Given the description of an element on the screen output the (x, y) to click on. 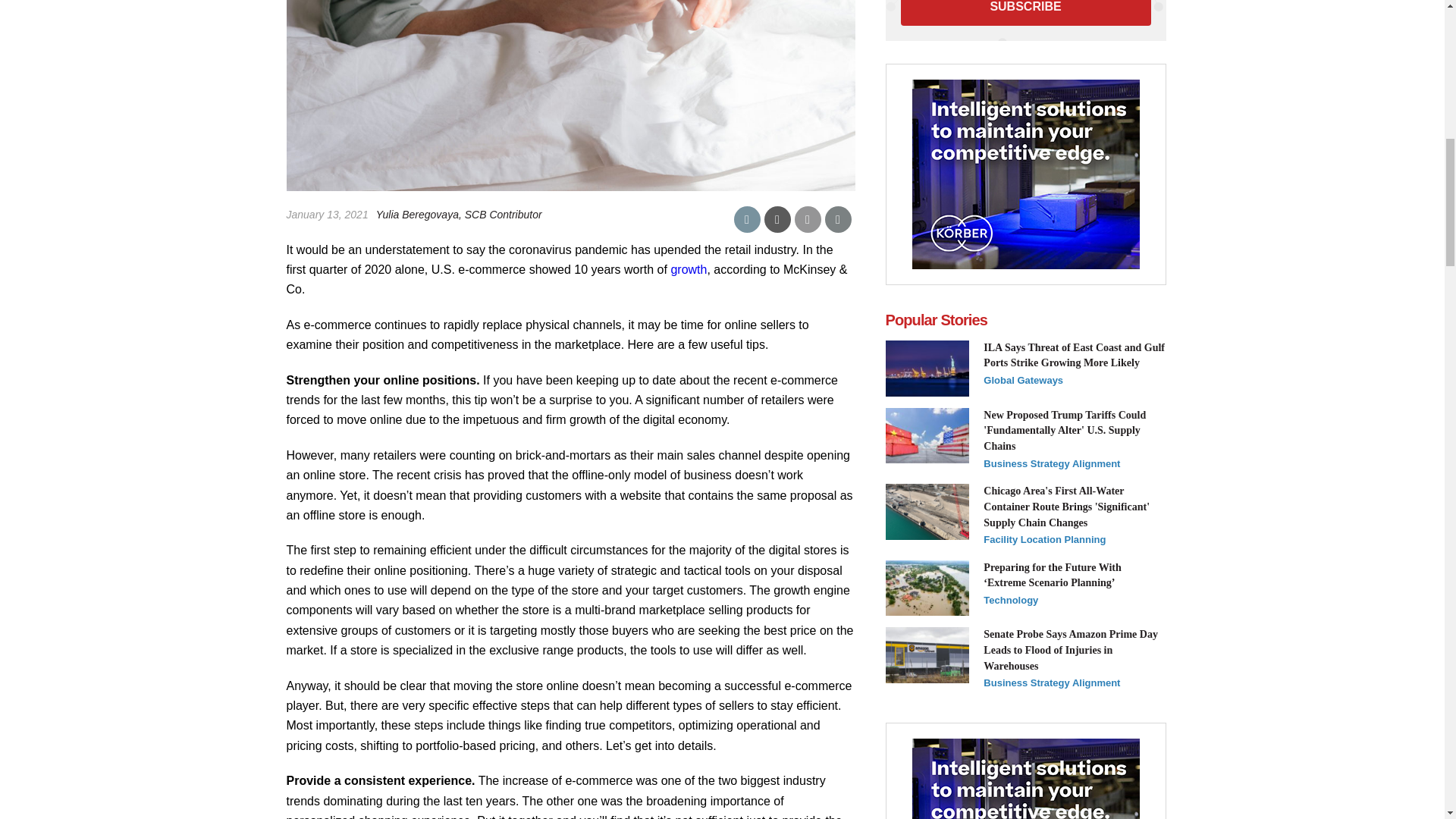
Korber-AI-300x250-1.jpg (1024, 778)
Subscribe (1026, 12)
FLOOD CLIMATE CHANGE UKRAINE iStock-Bilanol-1327617934.jpg (927, 588)
china-us-tariffs-mr-socrates-iStock-987983000.jpg (927, 435)
burns-harbor-construction-indiana-courtesy-photo.png (927, 511)
Korber-AI-300x250-3.jpg (1024, 174)
AMAZON FULFILLMENT CENTER iStock- josefkubes -653189006.jpg (927, 655)
